Given the description of an element on the screen output the (x, y) to click on. 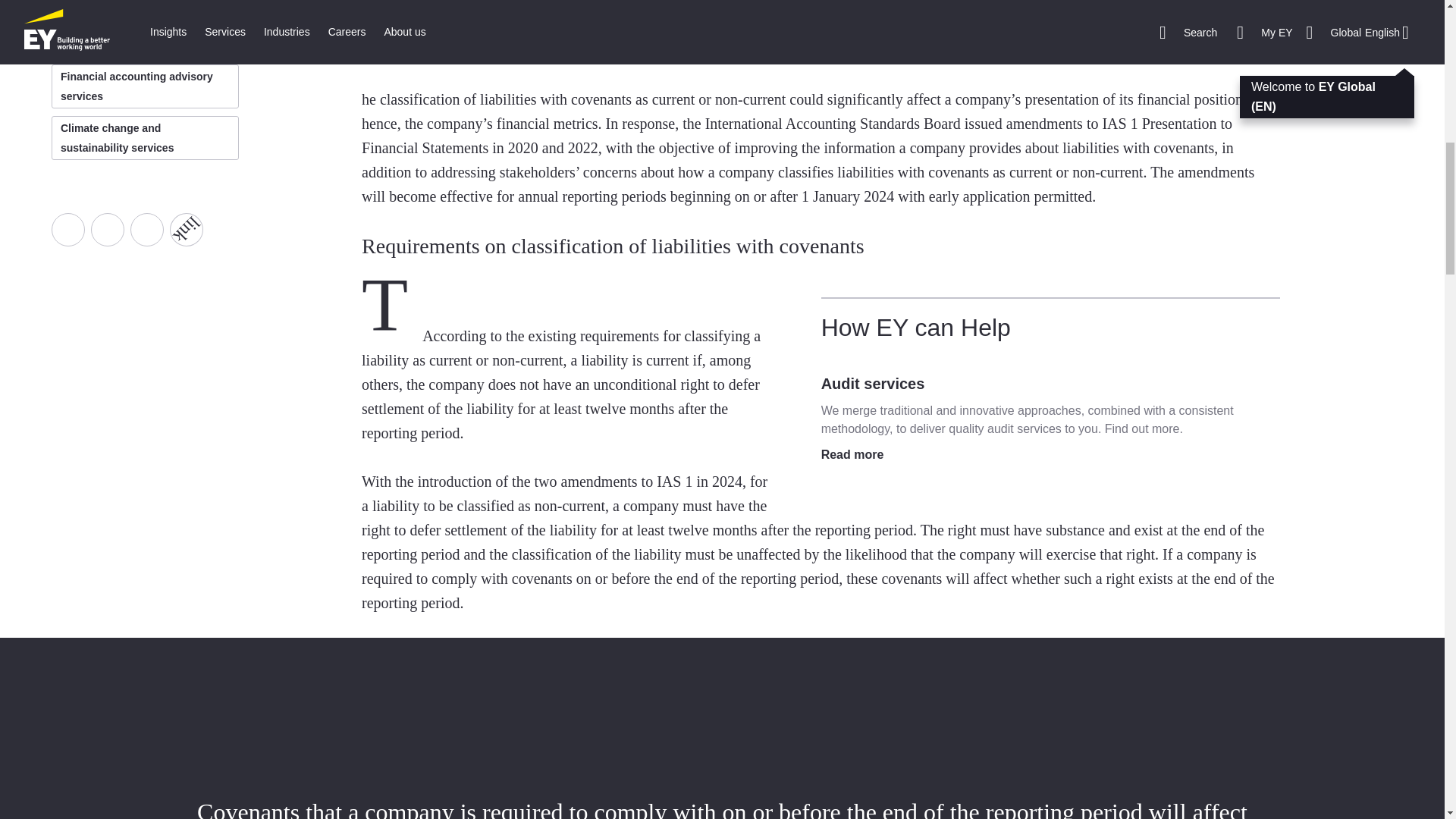
Copy (179, 222)
Facebook (67, 229)
Twitter (106, 229)
LinkedIn (147, 229)
